Given the description of an element on the screen output the (x, y) to click on. 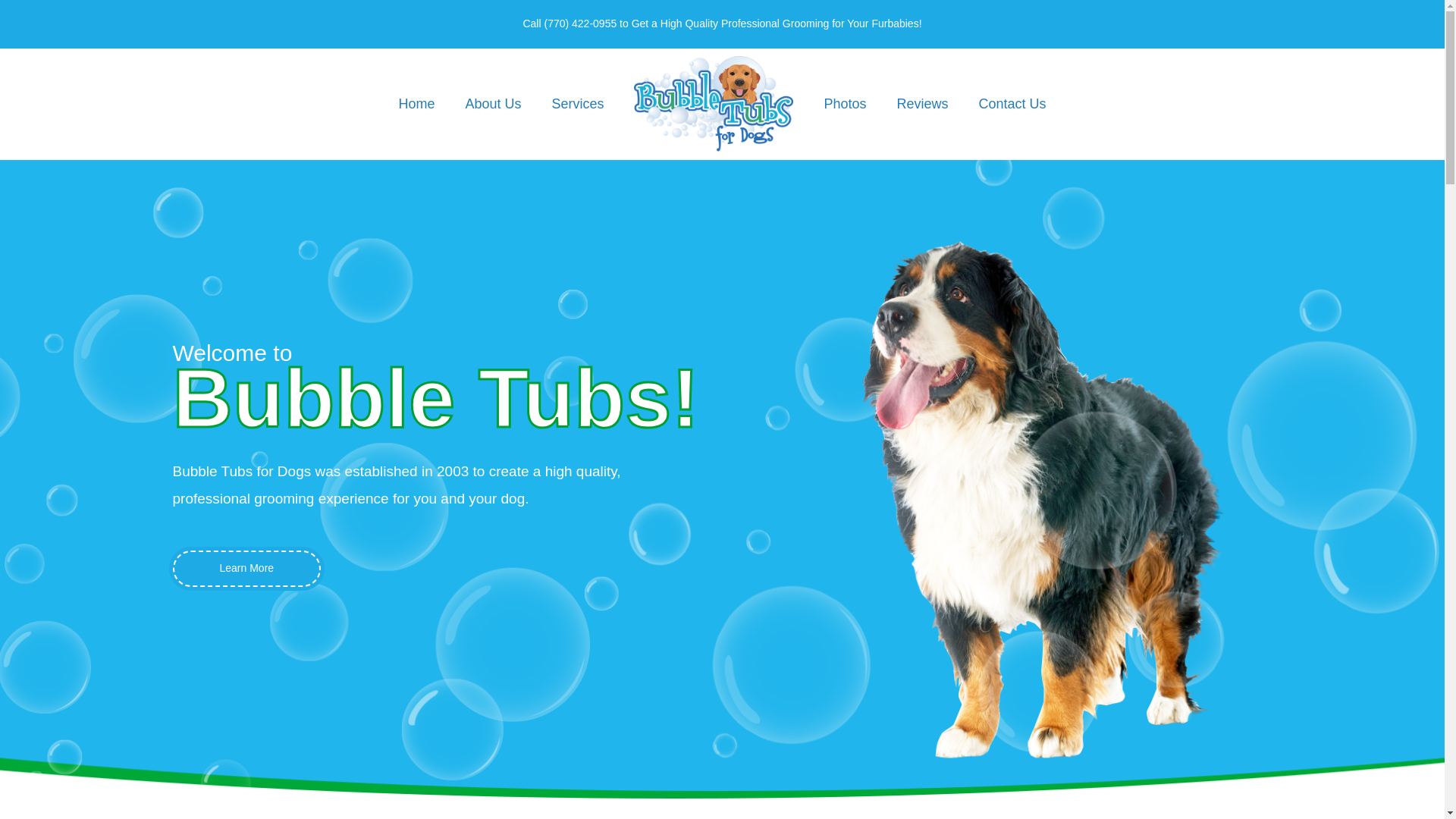
Learn More (247, 568)
